Given the description of an element on the screen output the (x, y) to click on. 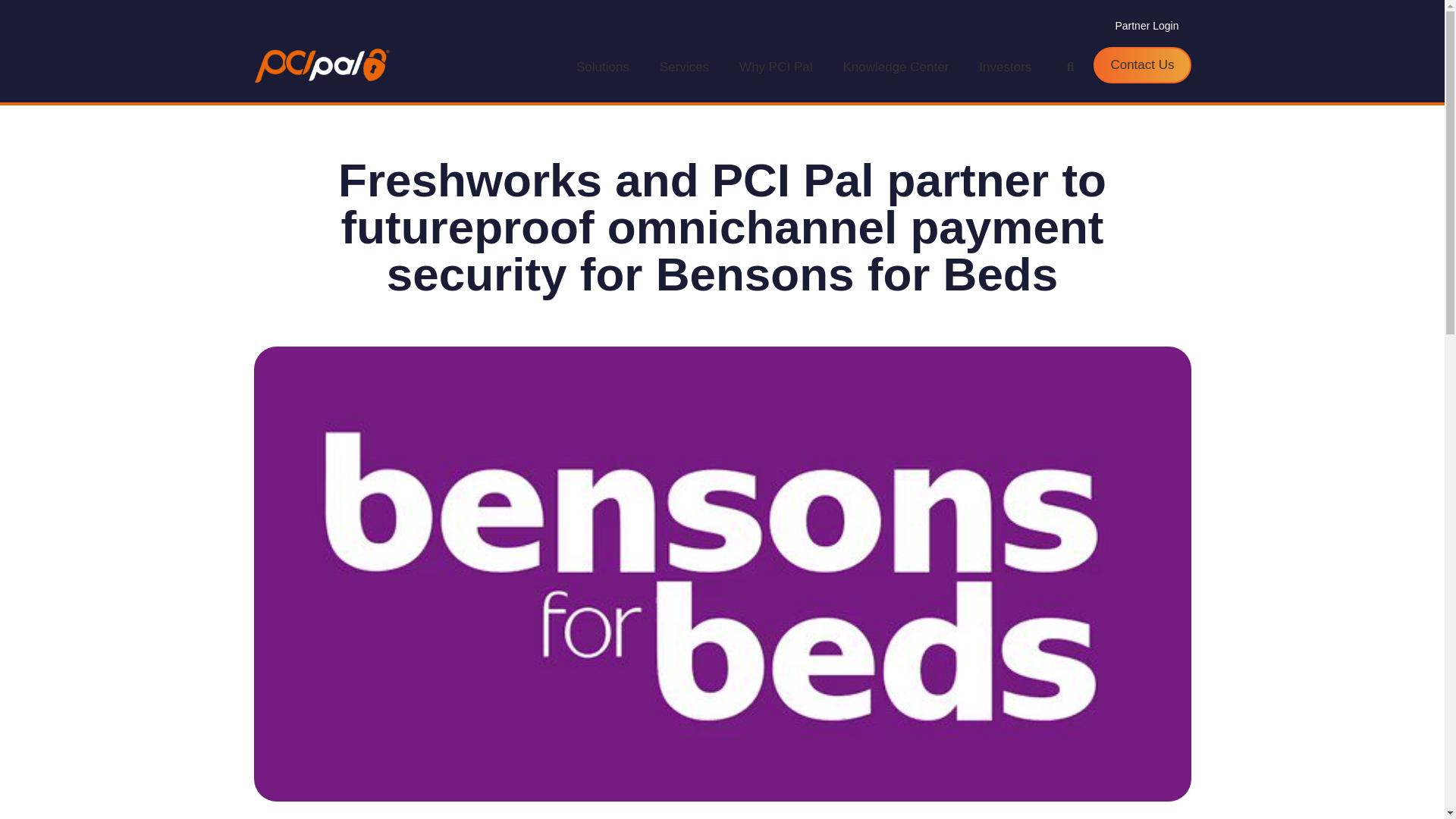
Solutions (602, 67)
Services (684, 67)
Why PCI Pal (775, 67)
Partner Login (1146, 25)
